Given the description of an element on the screen output the (x, y) to click on. 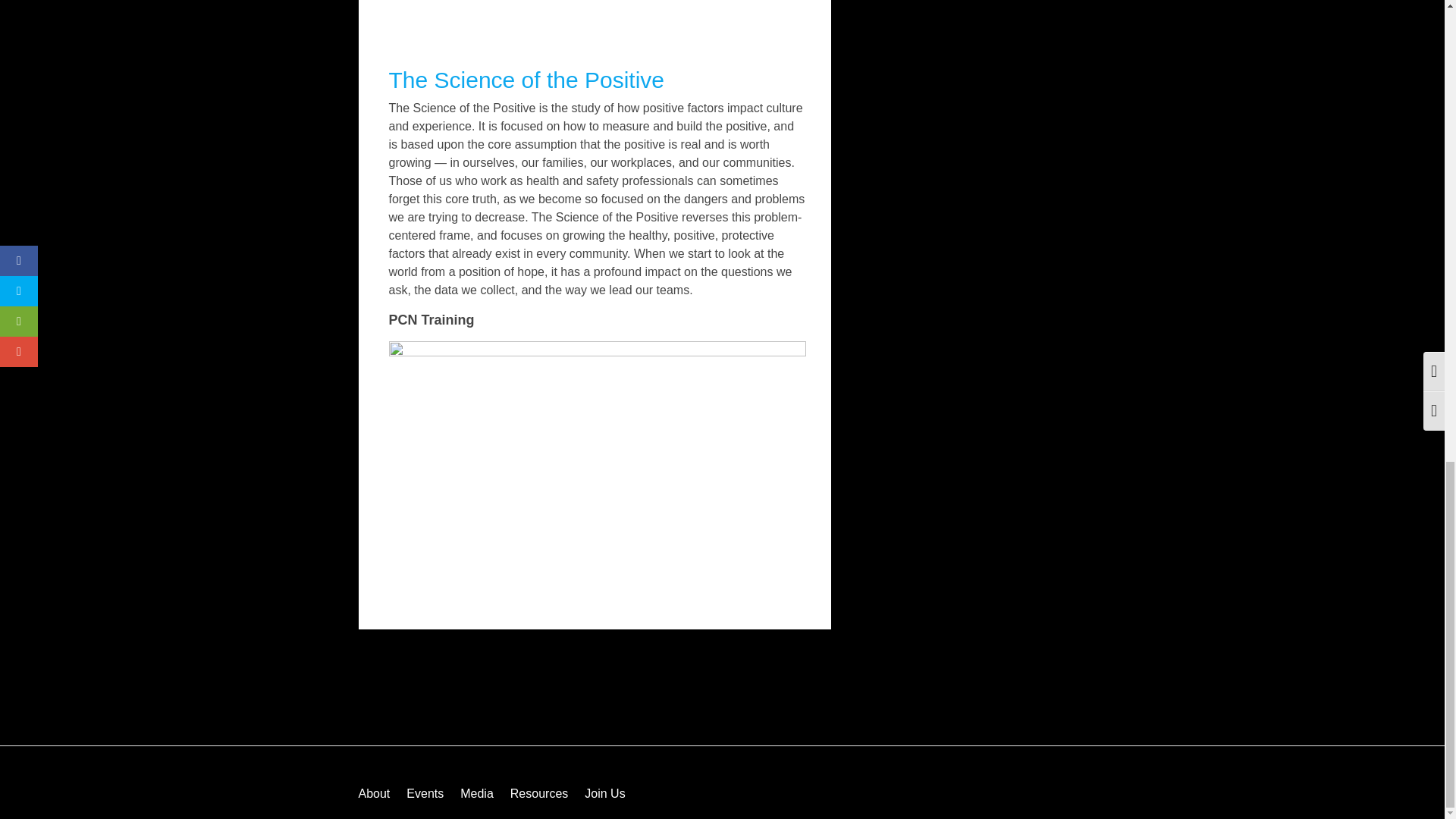
Resources (539, 793)
About (374, 793)
Media (476, 793)
Join Us (604, 793)
Events (425, 793)
